Given the description of an element on the screen output the (x, y) to click on. 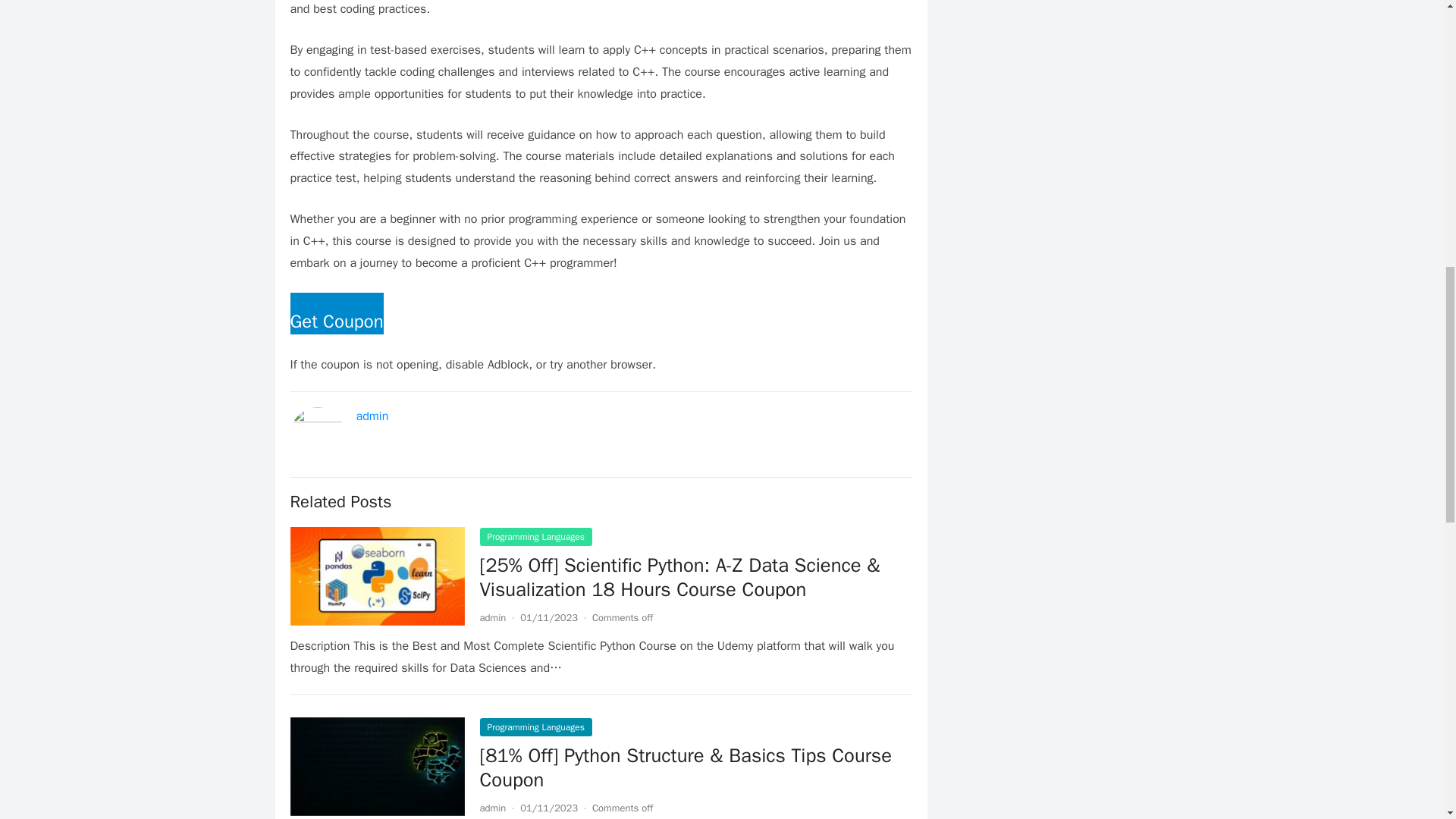
admin (372, 416)
Get Coupon (335, 323)
Posts by admin (492, 617)
Programming Languages (535, 727)
Posts by admin (492, 807)
admin (492, 617)
admin (492, 807)
Programming Languages (535, 536)
